Given the description of an element on the screen output the (x, y) to click on. 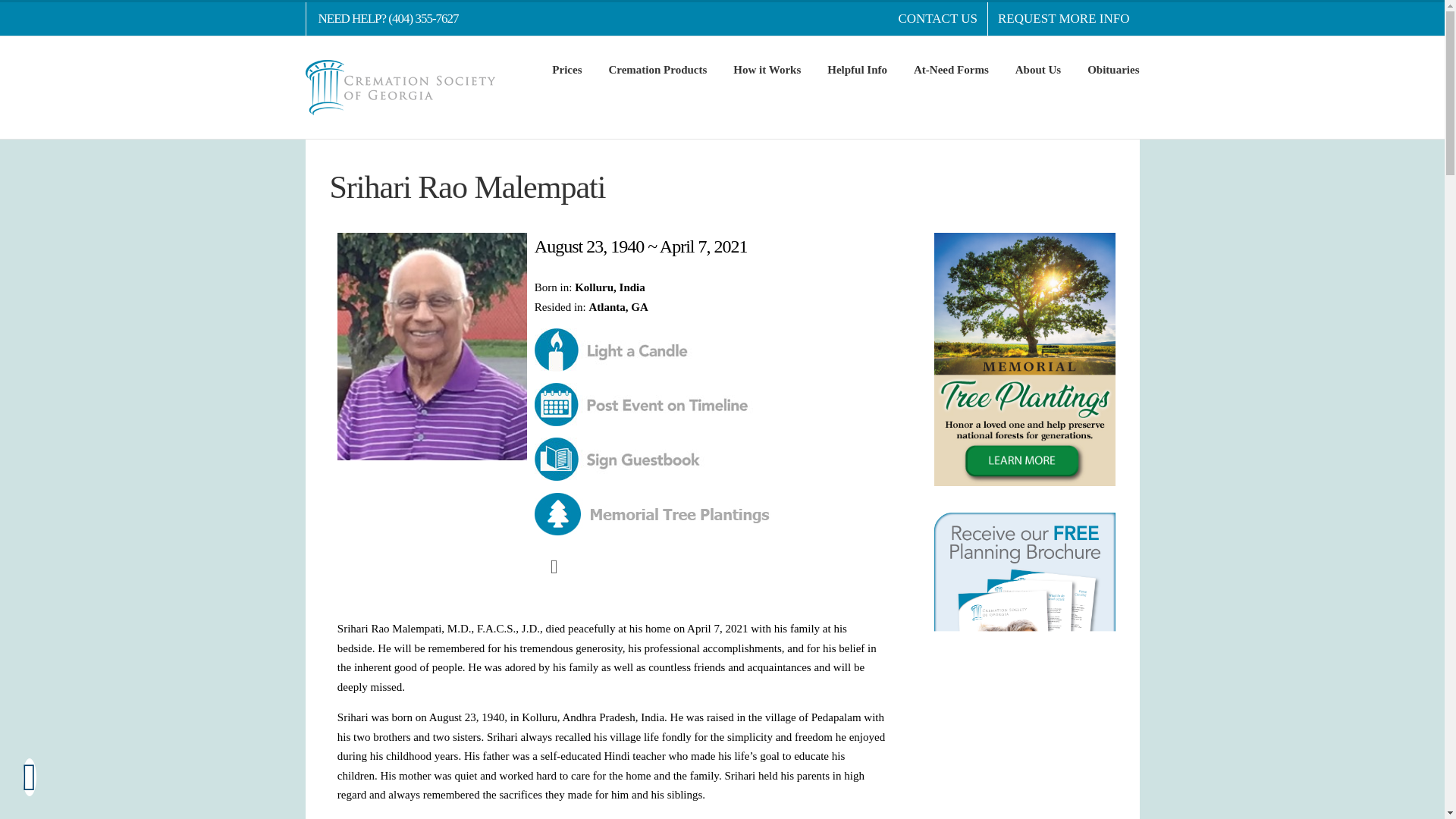
REQUEST MORE INFO (1063, 19)
Helpful Info (856, 68)
Print (553, 565)
How it Works (766, 68)
CONTACT US (937, 19)
At-Need Forms (951, 68)
Cremation Products (657, 68)
